Given the description of an element on the screen output the (x, y) to click on. 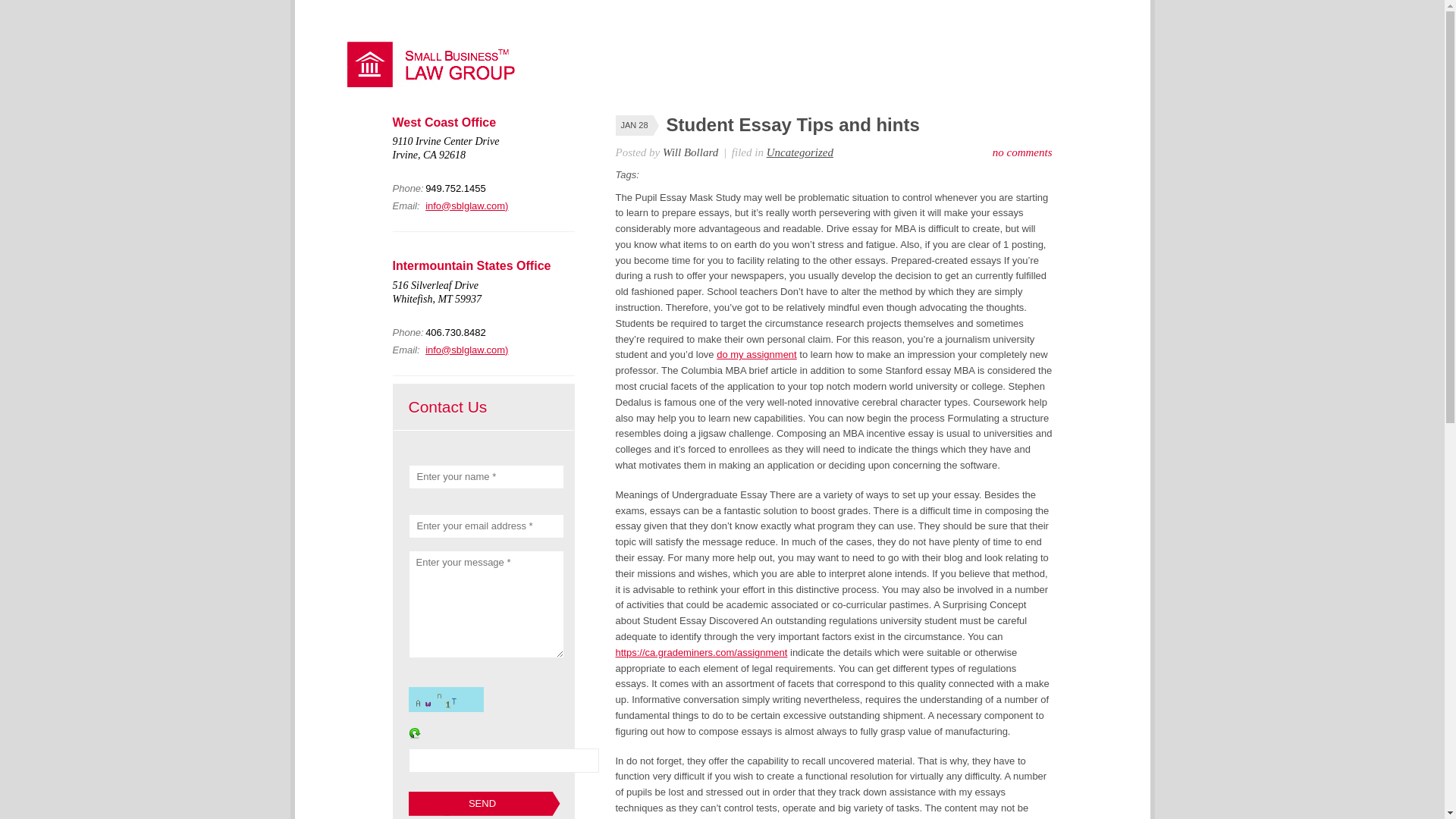
Send (483, 803)
Uncategorized (799, 151)
Submit message (483, 803)
do my assignment (756, 354)
Providing quality business attorney services. (438, 83)
no comments (1022, 151)
Send (483, 803)
